Given the description of an element on the screen output the (x, y) to click on. 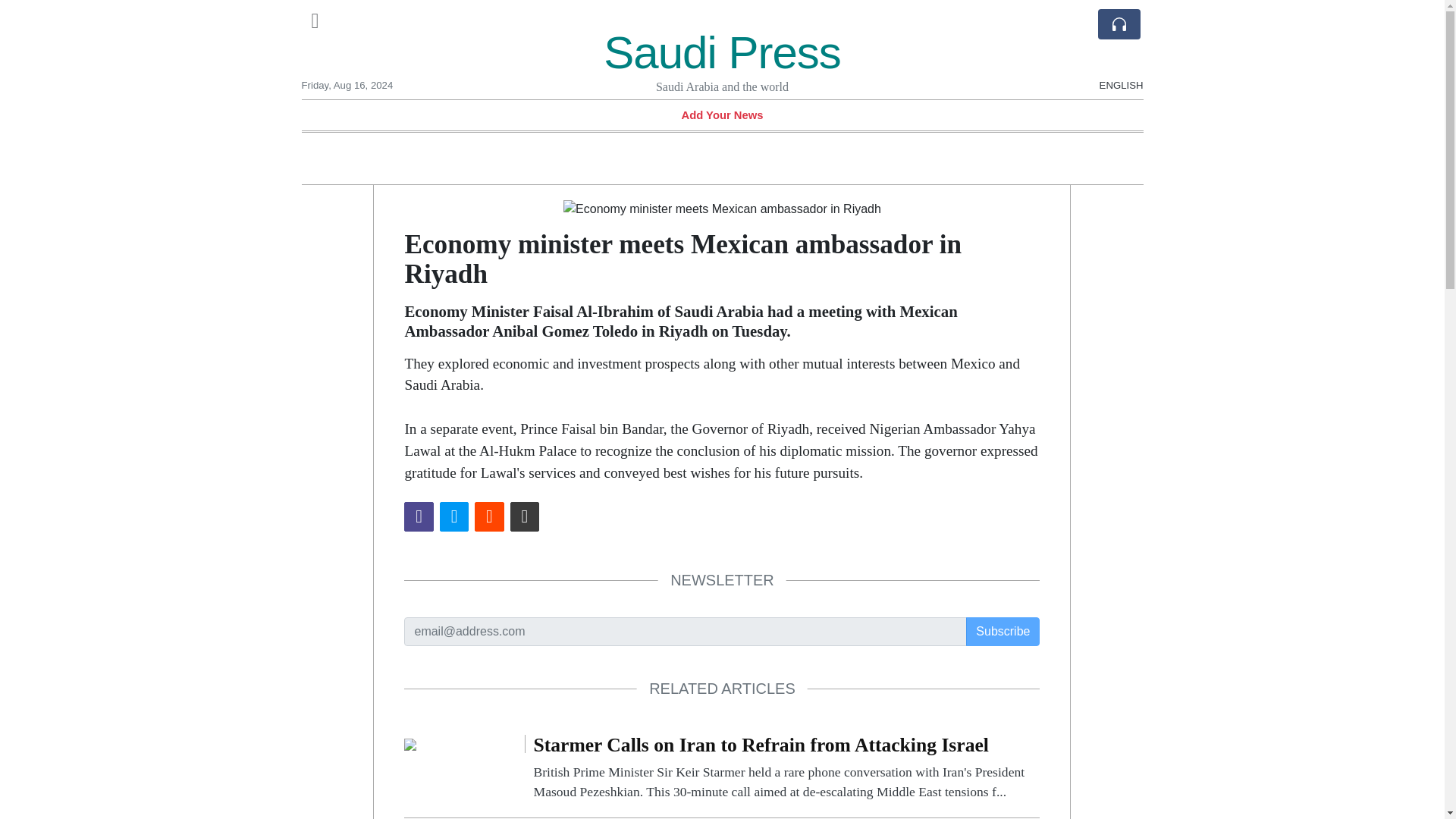
Starmer Calls on Iran to Refrain from Attacking Israel (785, 768)
Saudi Press (722, 52)
ENGLISH (1120, 34)
Add Your News (721, 114)
Starmer Calls on Iran to Refrain from Attacking Israel (410, 743)
Subscribe (1002, 631)
